Given the description of an element on the screen output the (x, y) to click on. 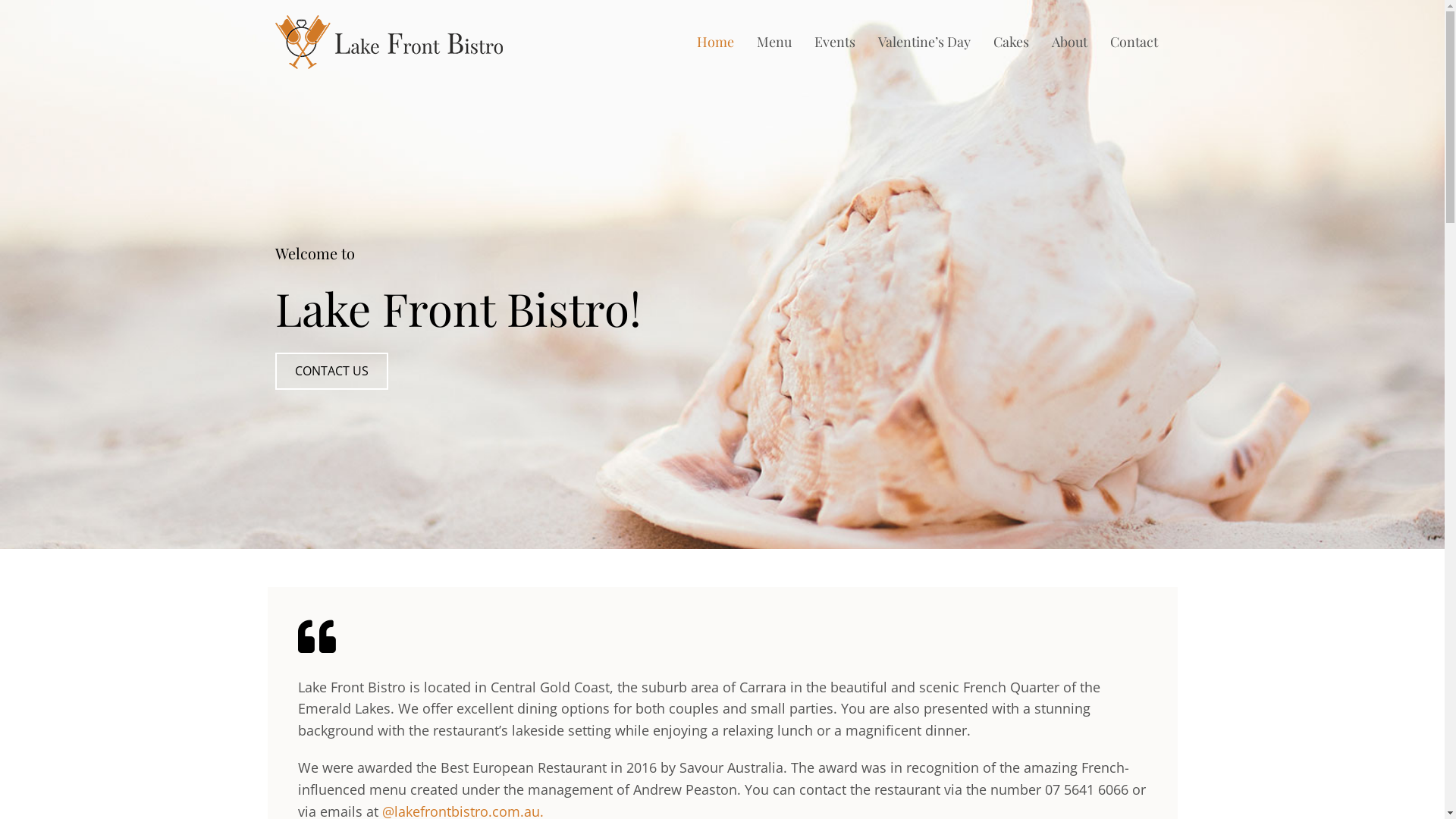
CONTACT US Element type: text (330, 370)
About Element type: text (1069, 41)
Events Element type: text (834, 41)
Menu Element type: text (774, 41)
Home Element type: text (715, 41)
Contact Element type: text (1133, 41)
Cakes Element type: text (1011, 41)
